Given the description of an element on the screen output the (x, y) to click on. 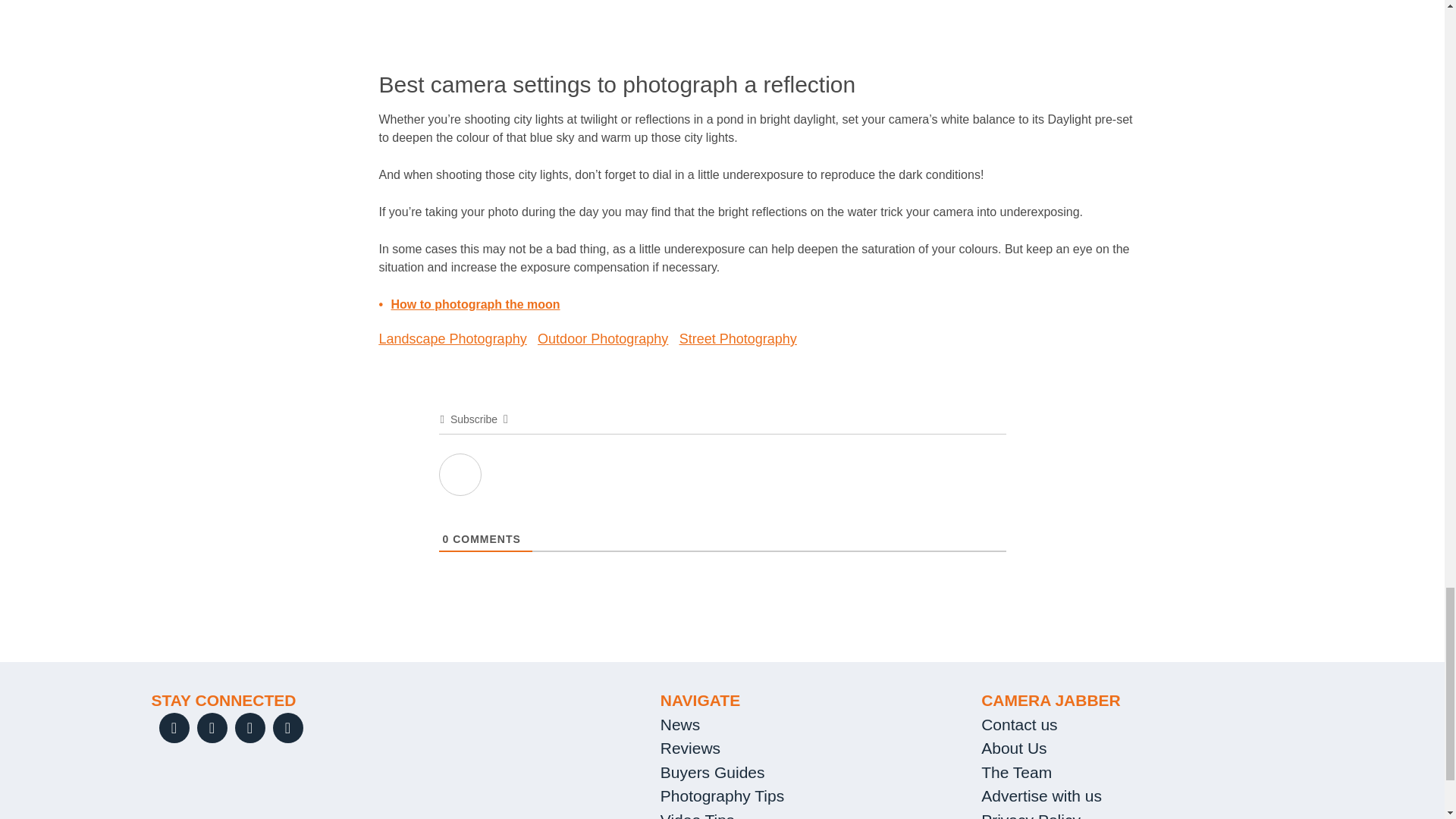
Street Photography (737, 338)
How to photograph the moon (475, 304)
Outdoor Photography (602, 338)
Landscape Photography (452, 338)
Landscape Photography (452, 338)
Street Photography (737, 338)
Outdoor Photography (602, 338)
